Given the description of an element on the screen output the (x, y) to click on. 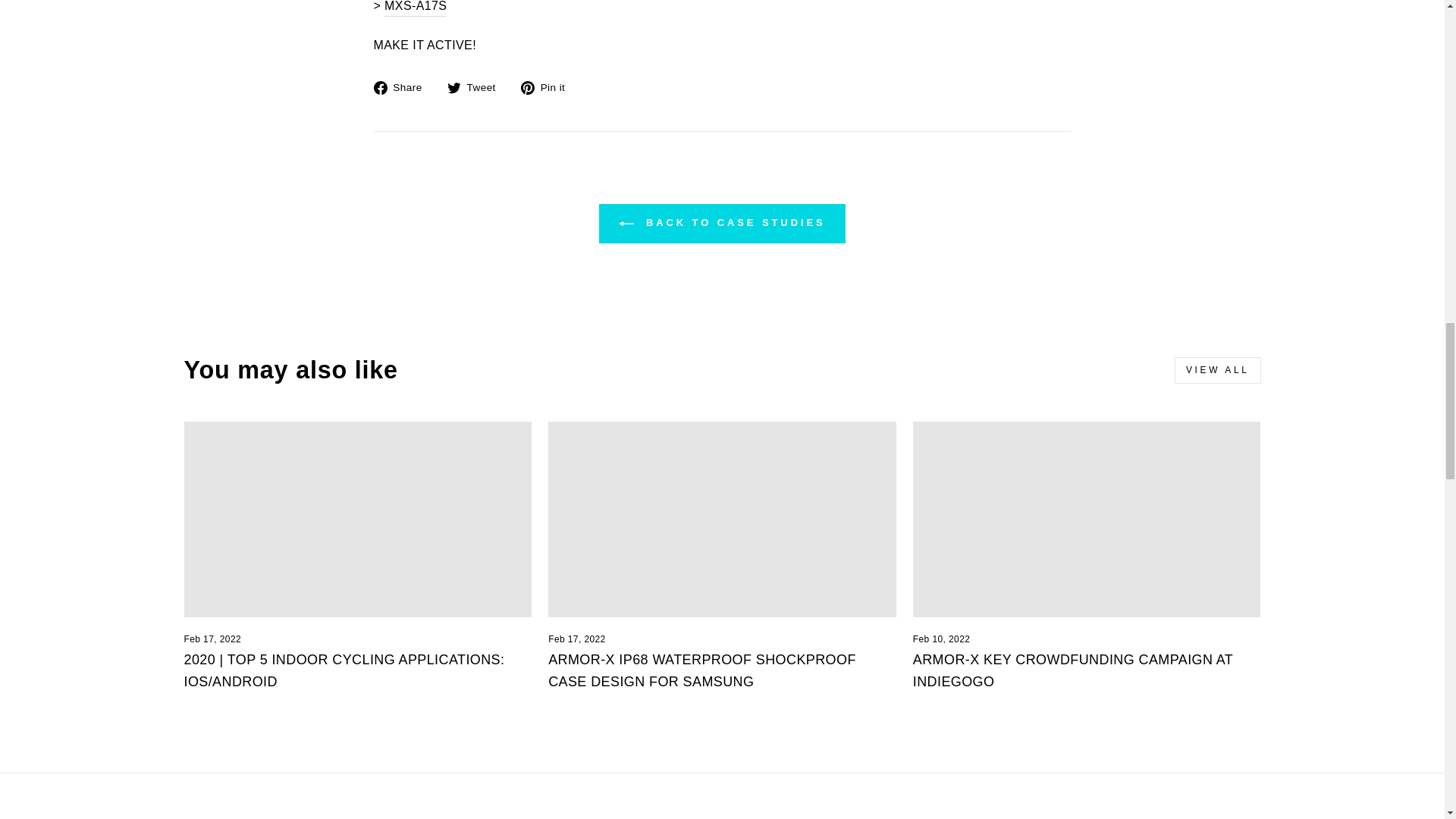
twitter (453, 88)
ICON-LEFT-ARROW (625, 223)
Tweet on Twitter (476, 86)
Share on Facebook (402, 86)
Pin on Pinterest (548, 86)
